Given the description of an element on the screen output the (x, y) to click on. 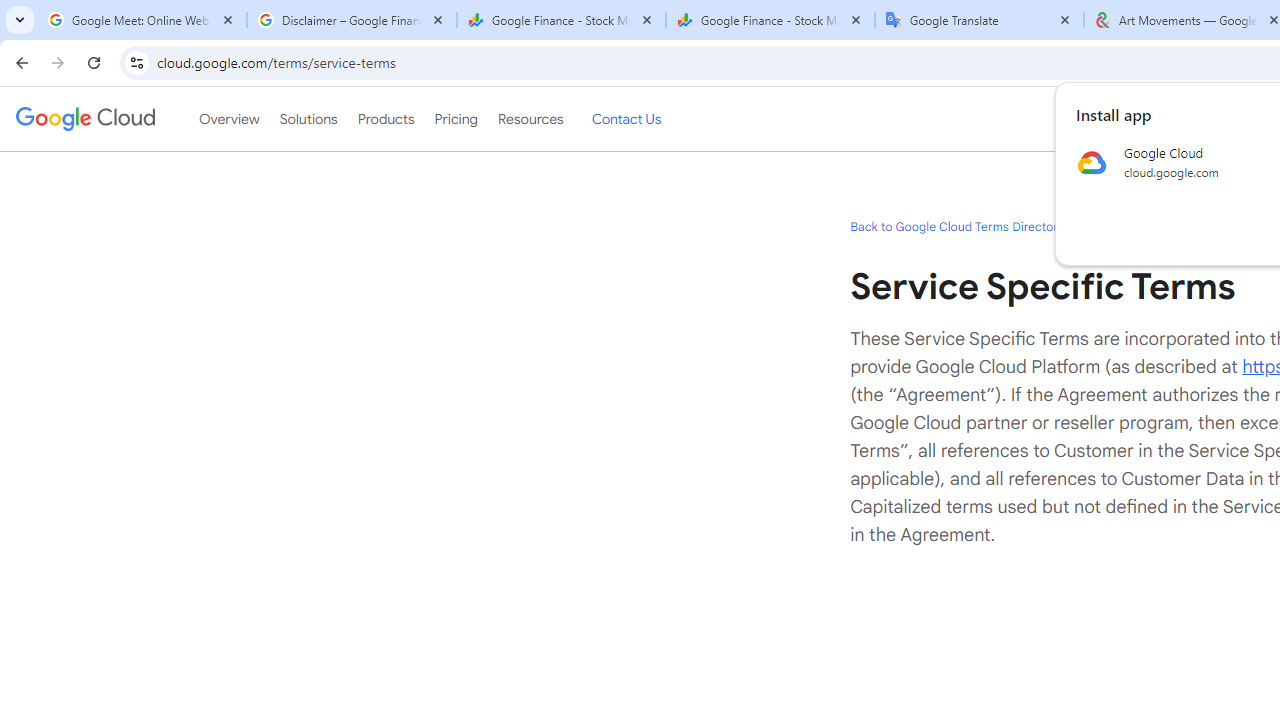
Version History (345, 568)
Check for Issues (358, 409)
Info (104, 559)
Back (104, 94)
Get Add-ins (104, 504)
Protect Document (358, 250)
New (104, 208)
Save As (104, 668)
